Given the description of an element on the screen output the (x, y) to click on. 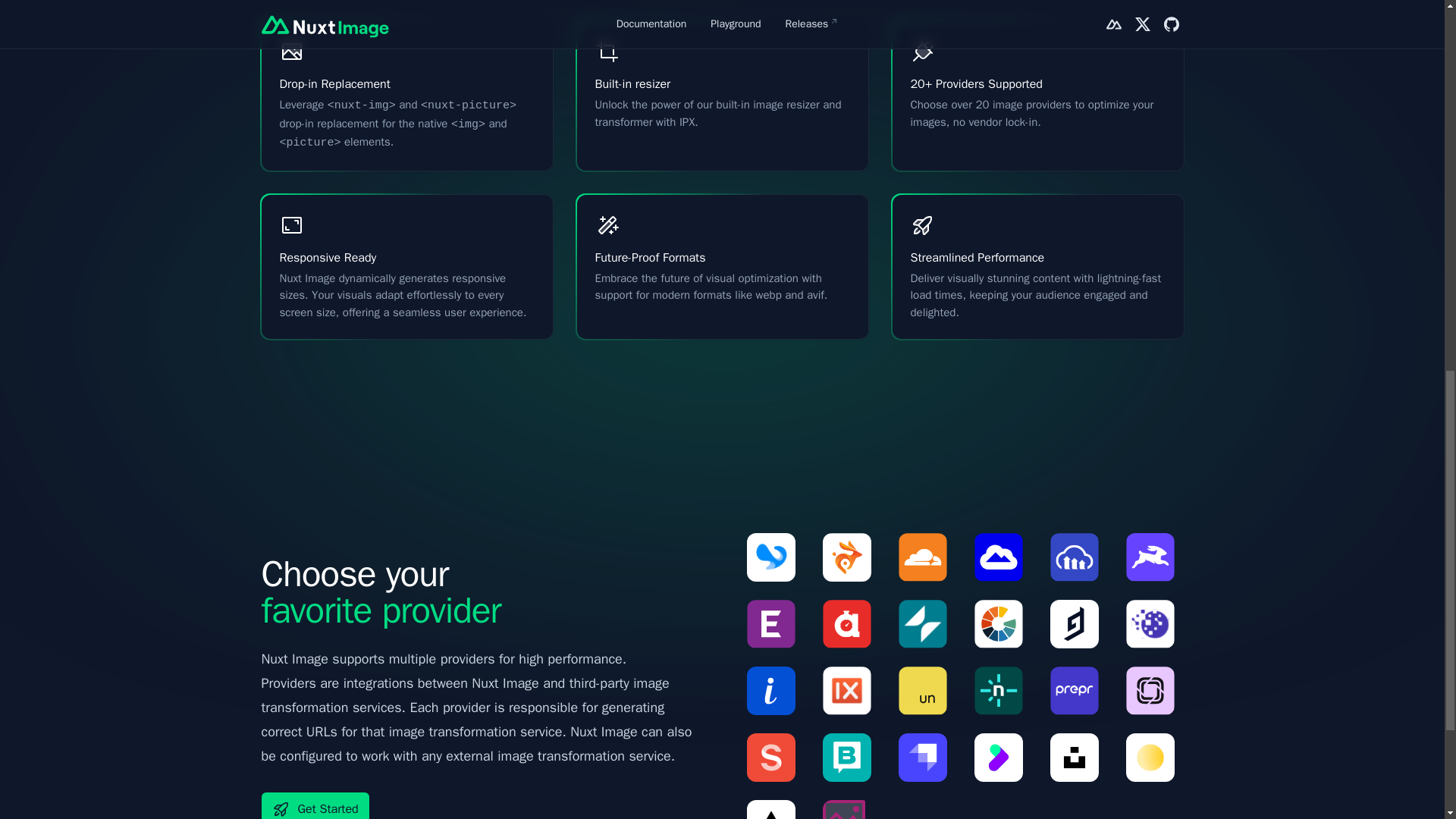
cloudinary (1077, 557)
imgix (850, 690)
gumlet (1002, 623)
glide (926, 623)
imageengine (1153, 623)
netlify (1002, 690)
ipx (926, 690)
cloudflare (926, 557)
cloudimage (1002, 557)
bunny (850, 557)
directus (1153, 557)
imagekit (774, 690)
caisy (774, 557)
fastly (850, 623)
sanity (774, 757)
